Given the description of an element on the screen output the (x, y) to click on. 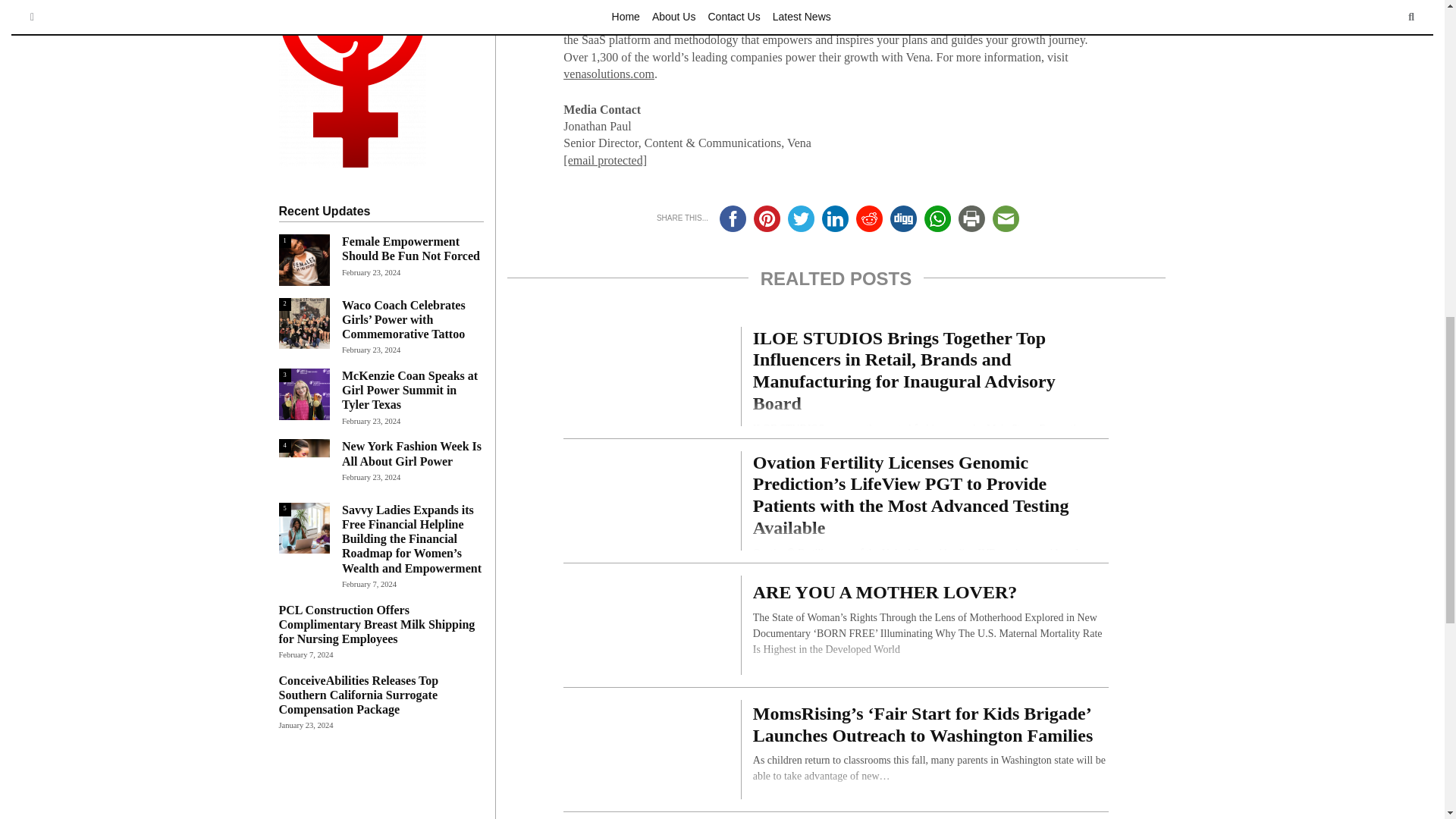
reddit (869, 218)
facebook (732, 218)
linkedin (835, 218)
venasolutions.com (608, 73)
pinterest (767, 218)
twitter (800, 218)
